Given the description of an element on the screen output the (x, y) to click on. 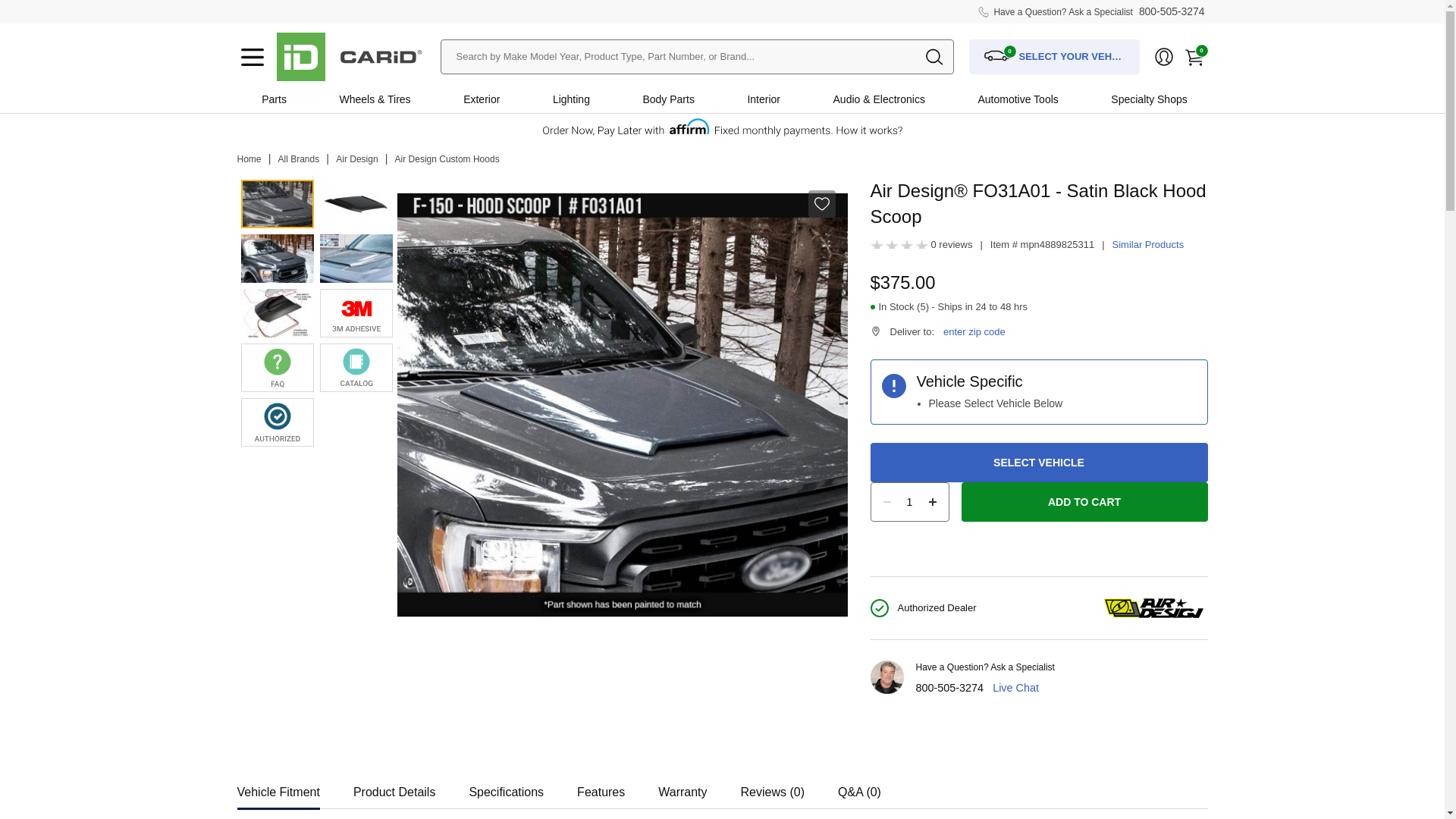
Tires (398, 99)
800-505-3274 (1171, 11)
Automotive Tools (1017, 99)
800-505-3274 (949, 687)
Vehicle Fitment (276, 786)
ADD TO CART (1084, 501)
Interior (763, 99)
Features (600, 786)
Product Details (394, 786)
Warranty (682, 786)
CAR ID (300, 56)
All Brands (299, 158)
Product Details (394, 786)
SELECT VEHICLE (1039, 462)
Specifications (505, 786)
